Given the description of an element on the screen output the (x, y) to click on. 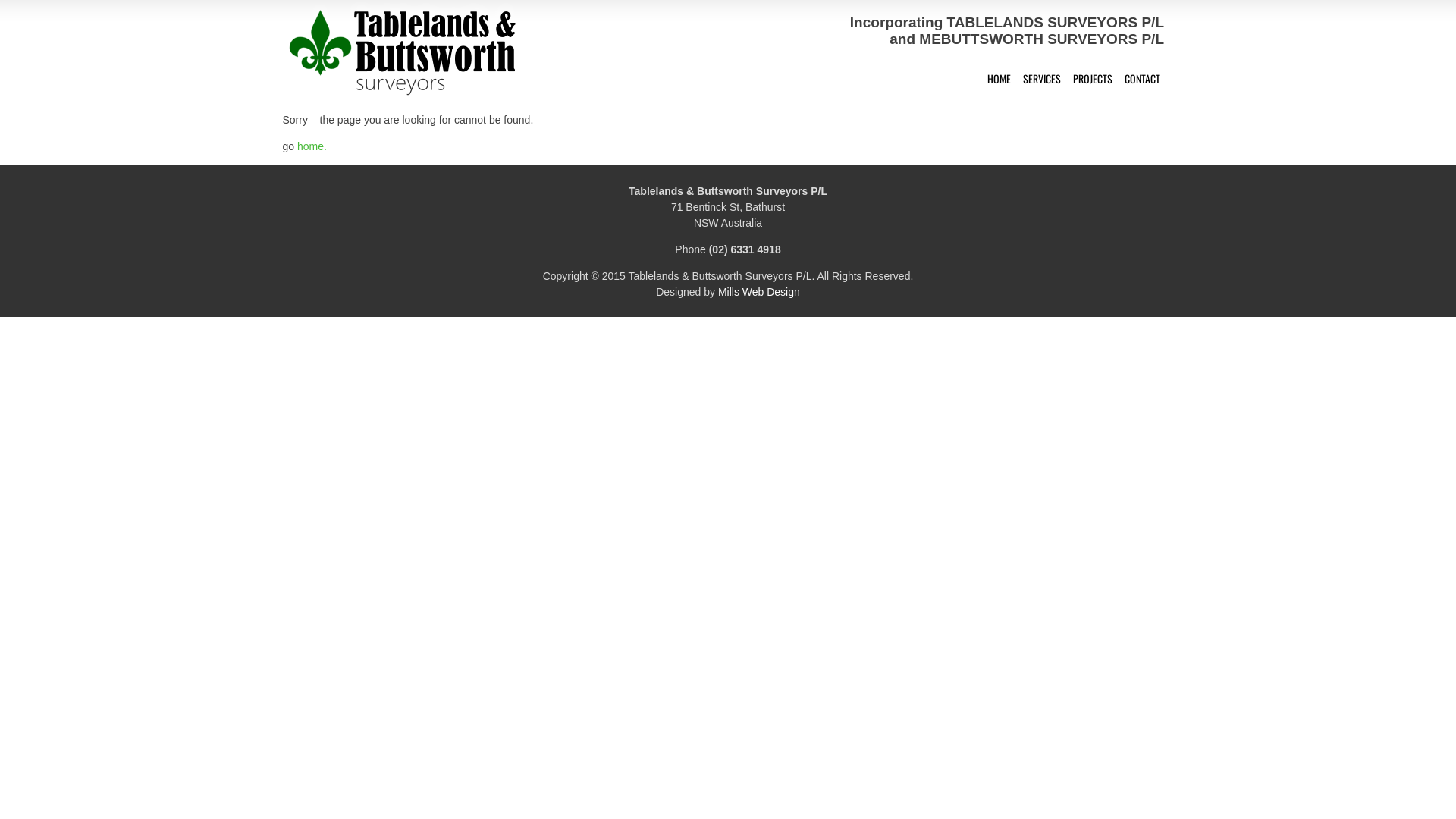
CONTACT Element type: text (1142, 78)
Mills Web Design Element type: text (759, 291)
home. Element type: text (311, 146)
PROJECTS Element type: text (1092, 78)
SERVICES Element type: text (1041, 78)
HOME Element type: text (998, 78)
